Given the description of an element on the screen output the (x, y) to click on. 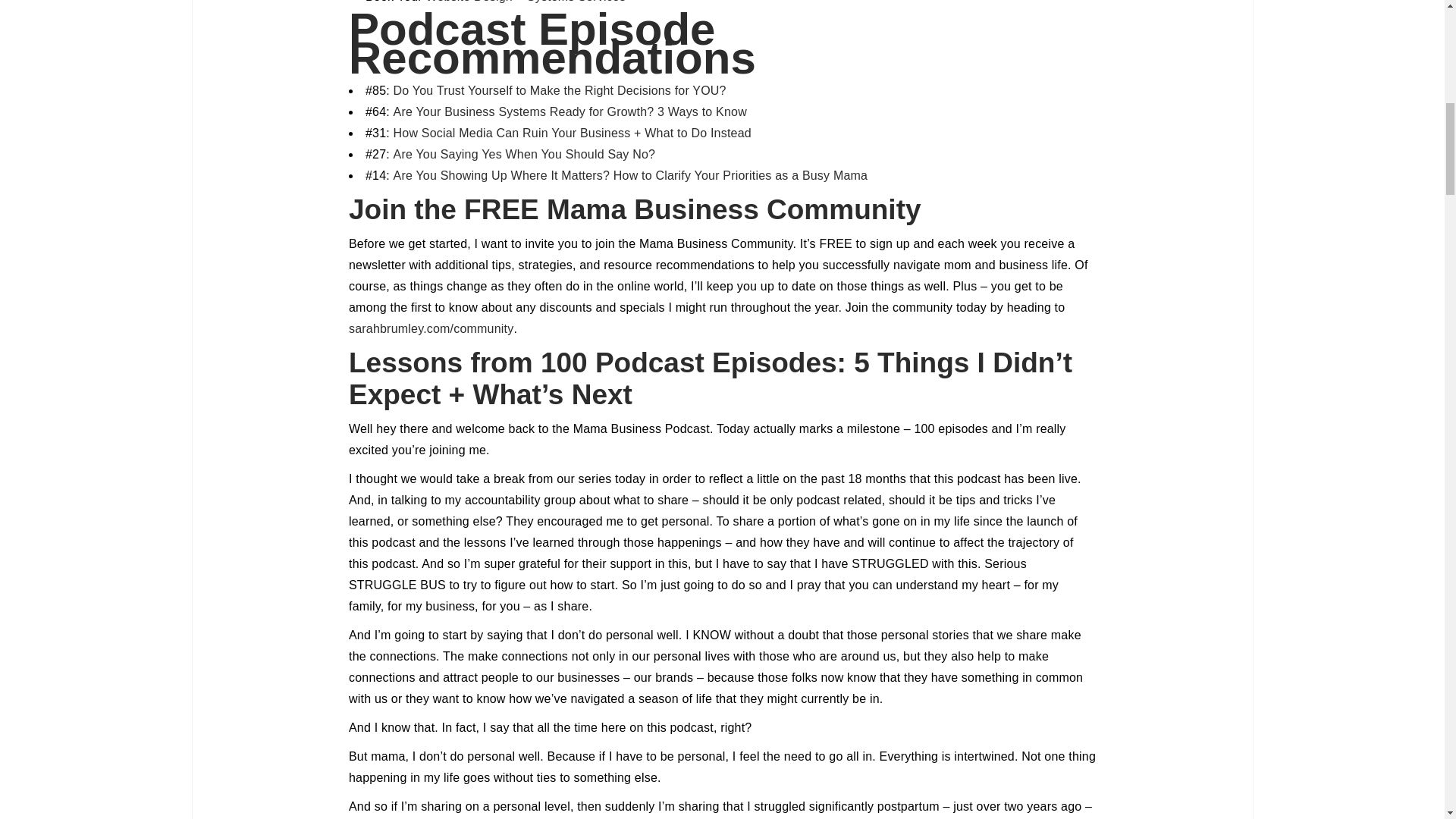
Are Your Business Systems Ready for Growth? 3 Ways to Know (569, 111)
Are You Saying Yes When You Should Say No? (524, 154)
Do You Trust Yourself to Make the Right Decisions for YOU? (559, 90)
